Given the description of an element on the screen output the (x, y) to click on. 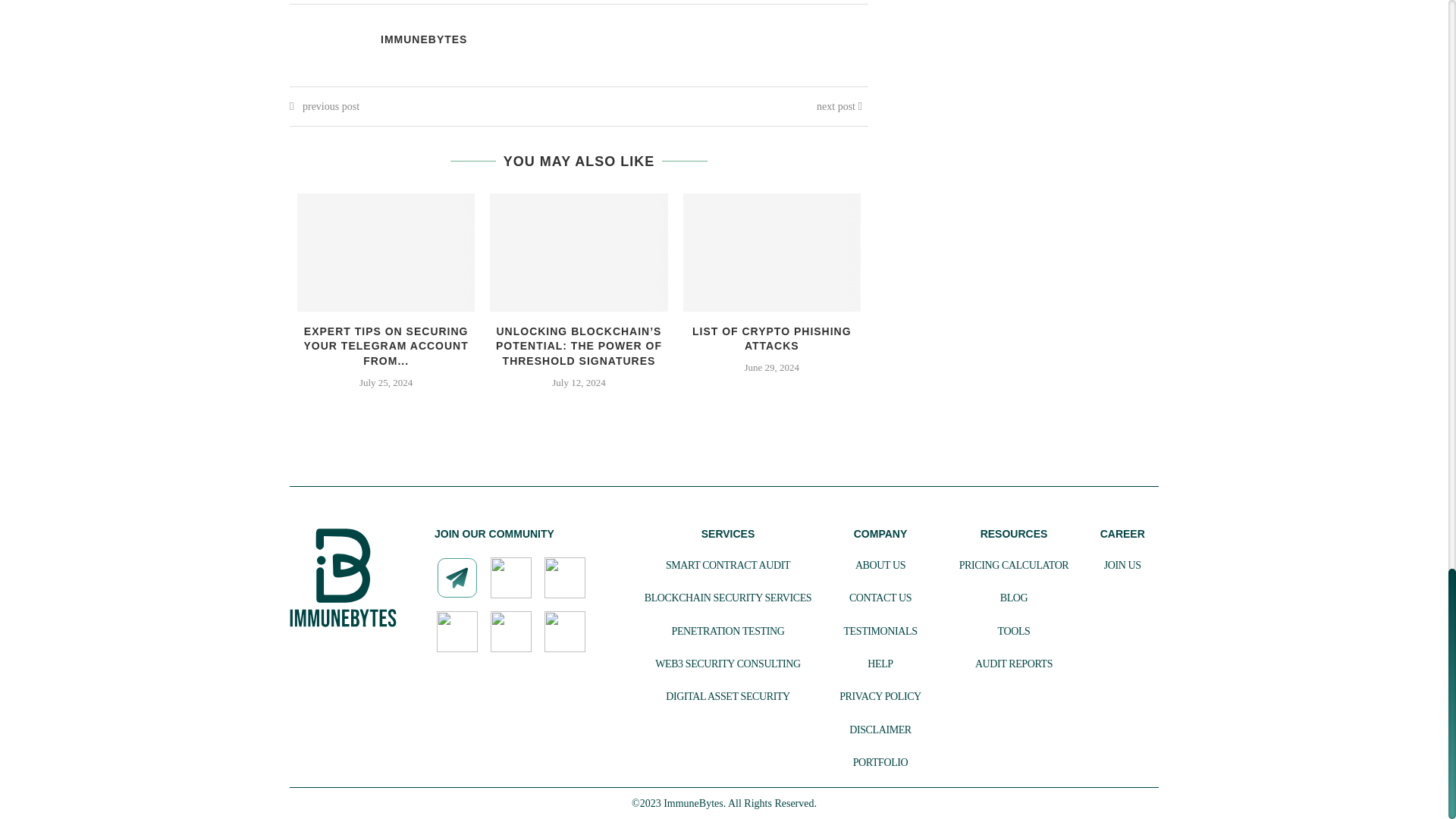
List of Crypto Phishing Attacks (771, 252)
Expert Tips on Securing Your Telegram Account from Scams (385, 252)
